Given the description of an element on the screen output the (x, y) to click on. 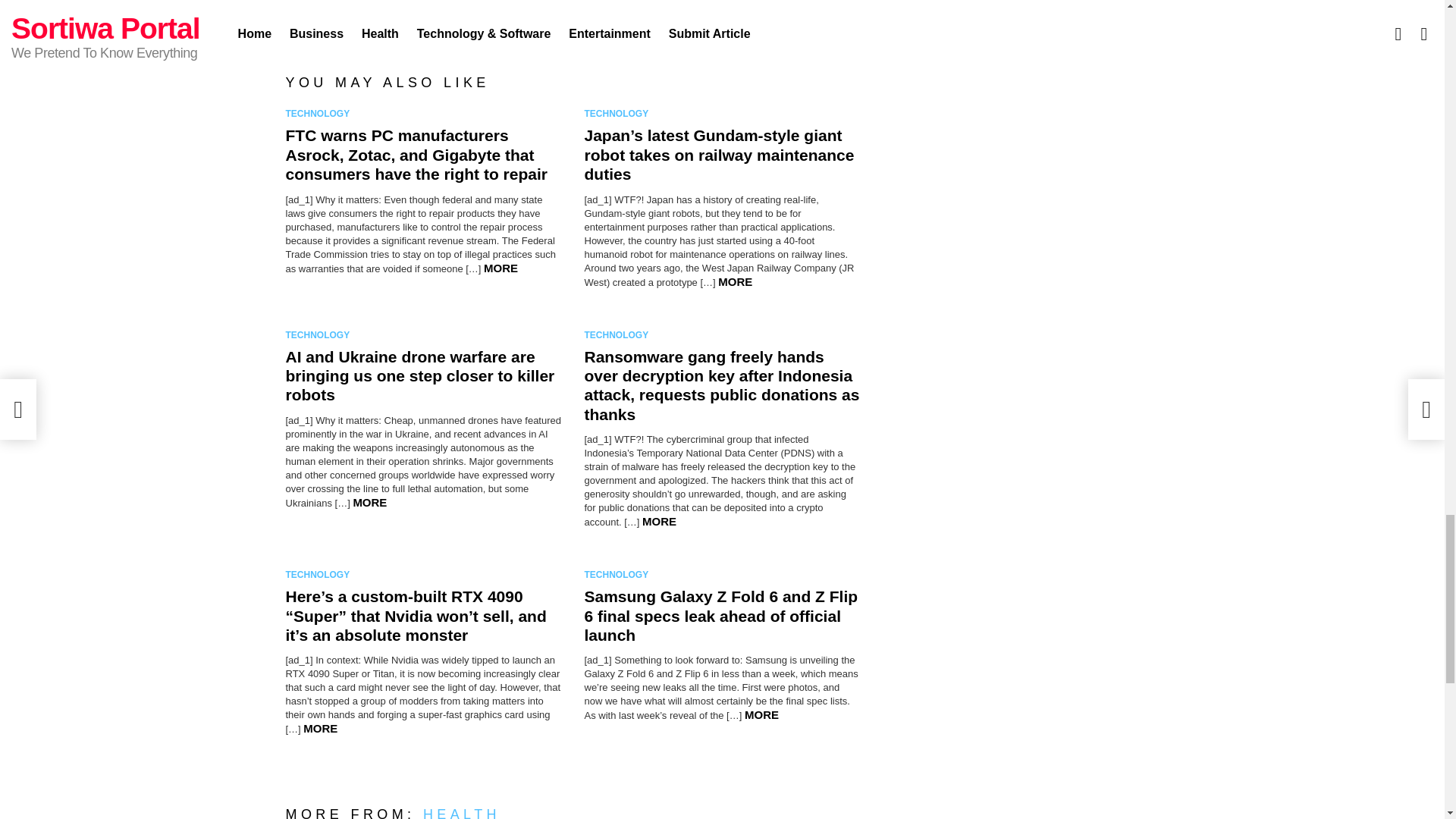
TECHNOLOGY (320, 113)
MORE (500, 267)
MORE (659, 521)
MORE (369, 502)
TECHNOLOGY (320, 335)
MORE (734, 281)
